Given the description of an element on the screen output the (x, y) to click on. 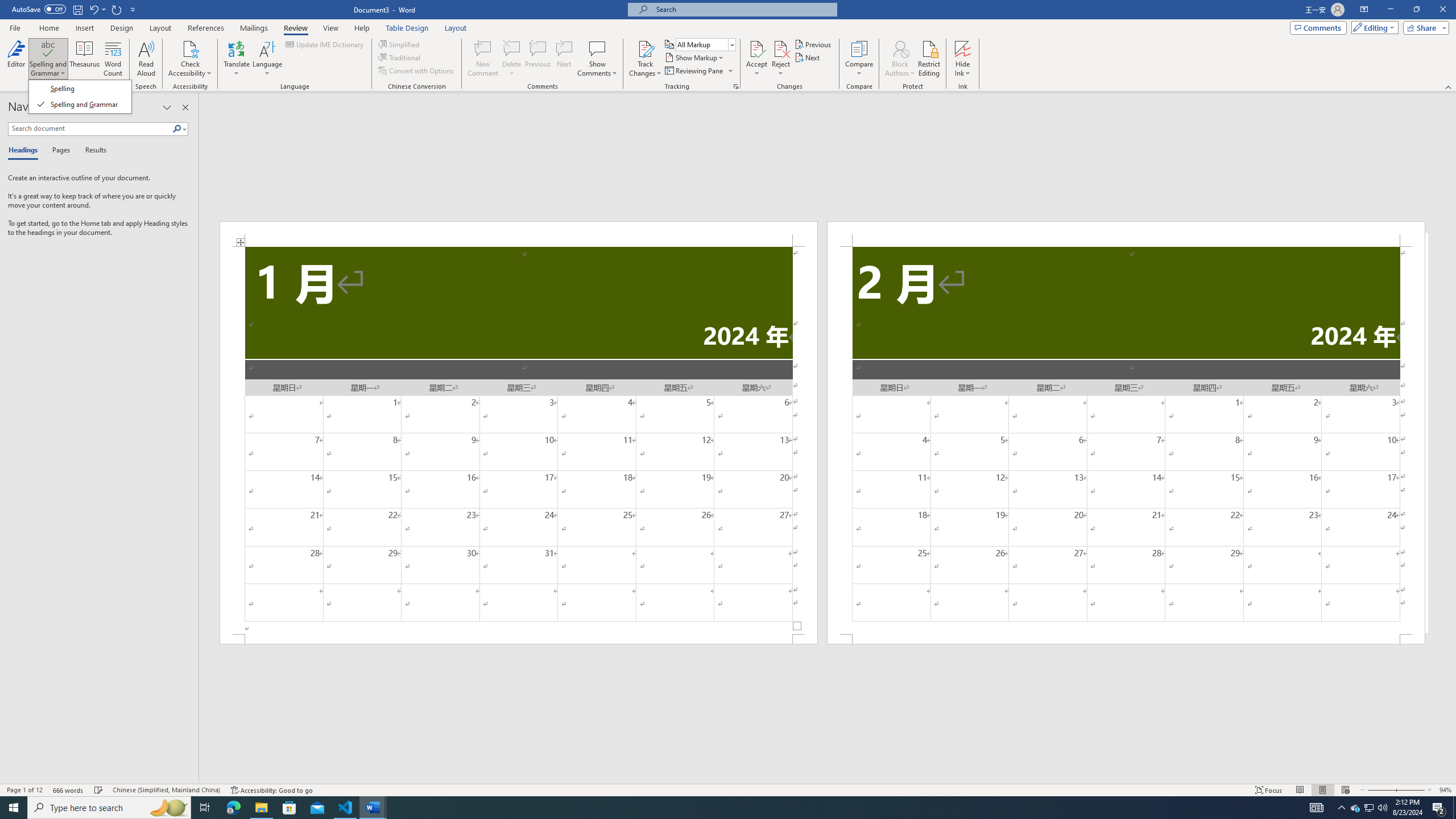
Simplified (400, 44)
Translate (236, 58)
Reject and Move to Next (780, 48)
Word Count (113, 58)
Running applications (717, 807)
Spelling and &Grammar (80, 96)
Accept and Move to Next (756, 48)
